Given the description of an element on the screen output the (x, y) to click on. 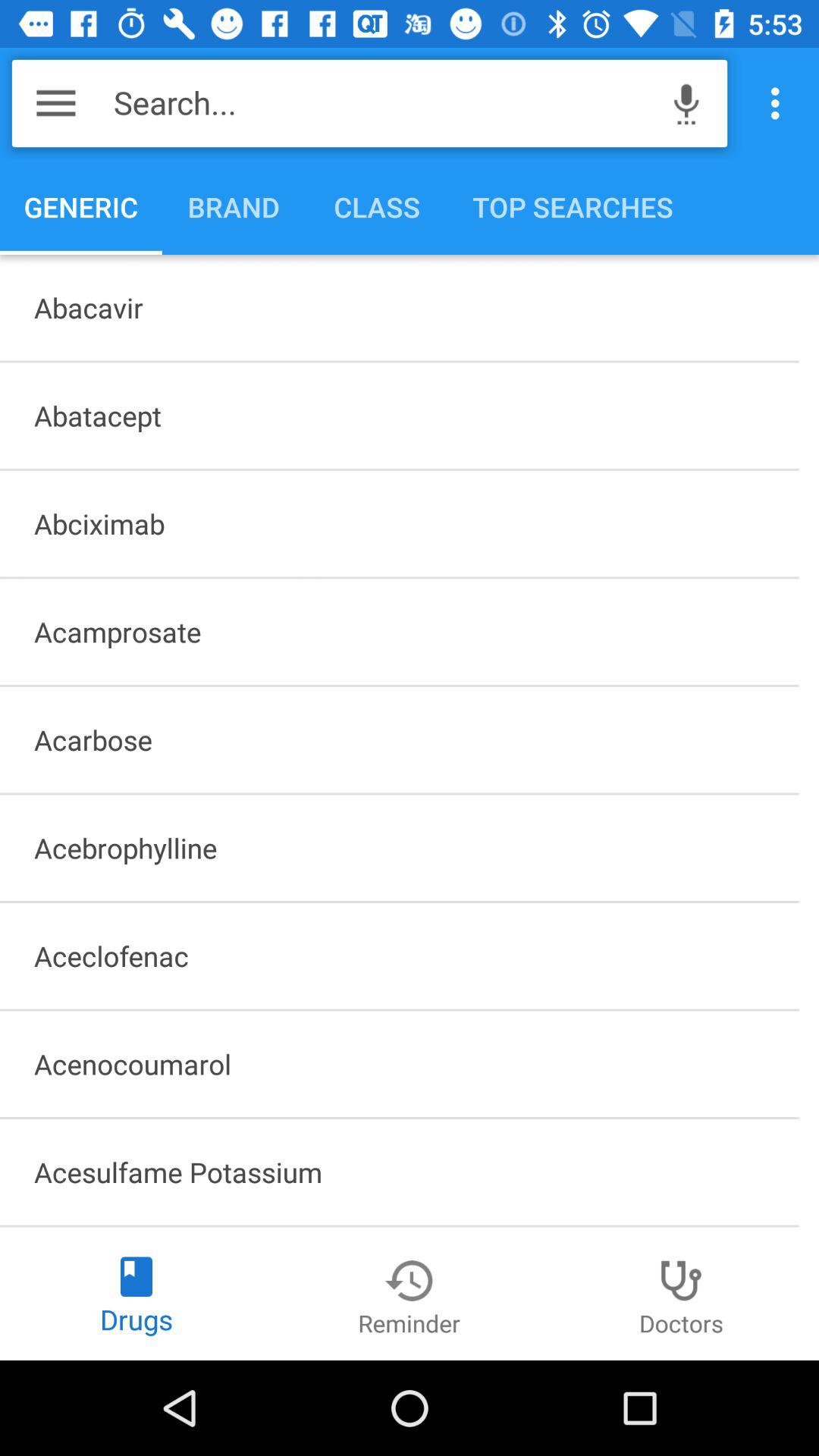
turn on the icon above abciximab (399, 415)
